Given the description of an element on the screen output the (x, y) to click on. 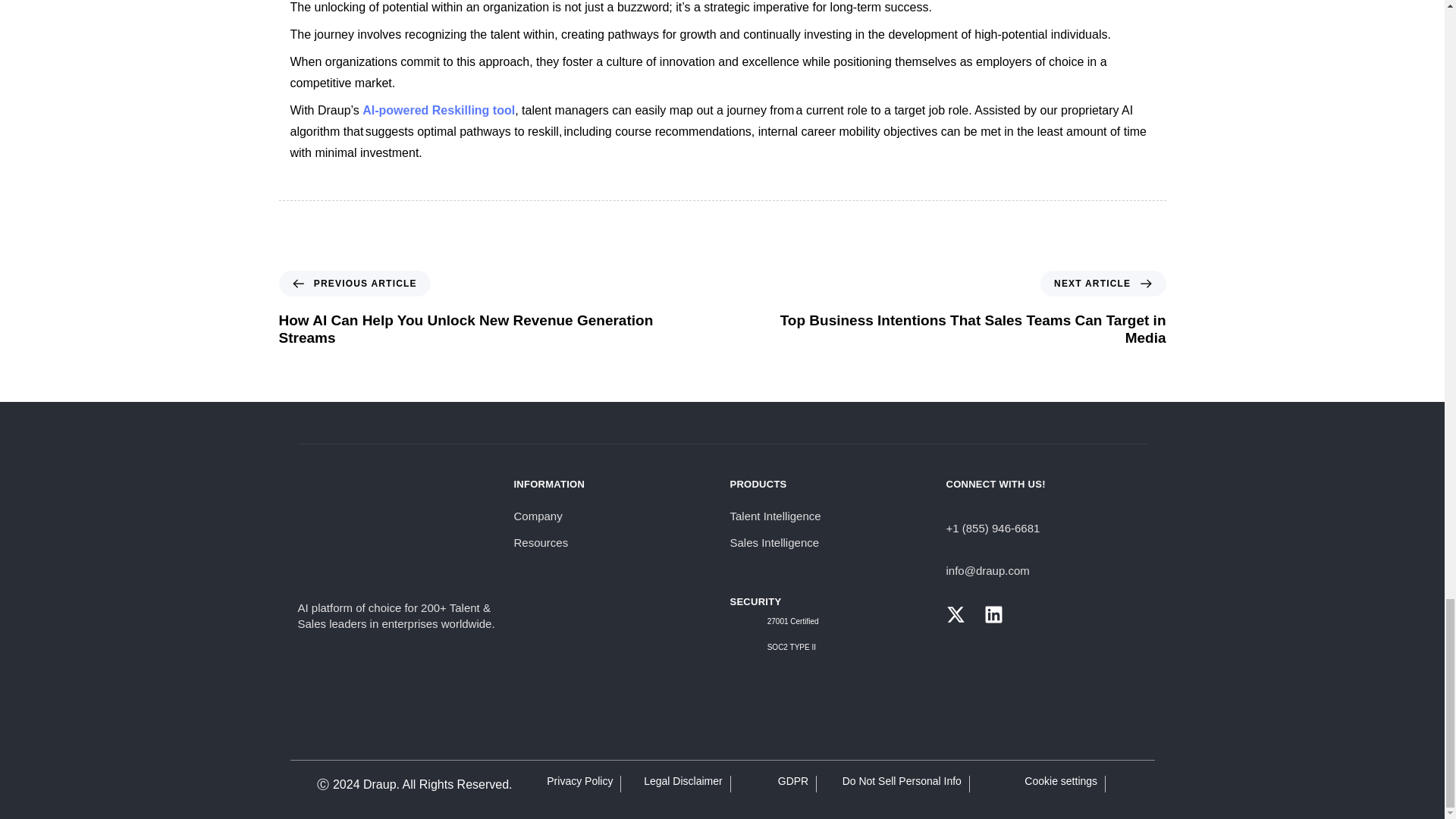
AI-powered Reskilling tool (438, 110)
GDPR (792, 780)
Resources (613, 542)
Talent Intelligence (829, 516)
Legal Disclaimer (682, 780)
Do Not Sell Personal Info (901, 780)
Sales Intelligence (829, 542)
Company (613, 516)
Privacy Policy (579, 780)
